Given the description of an element on the screen output the (x, y) to click on. 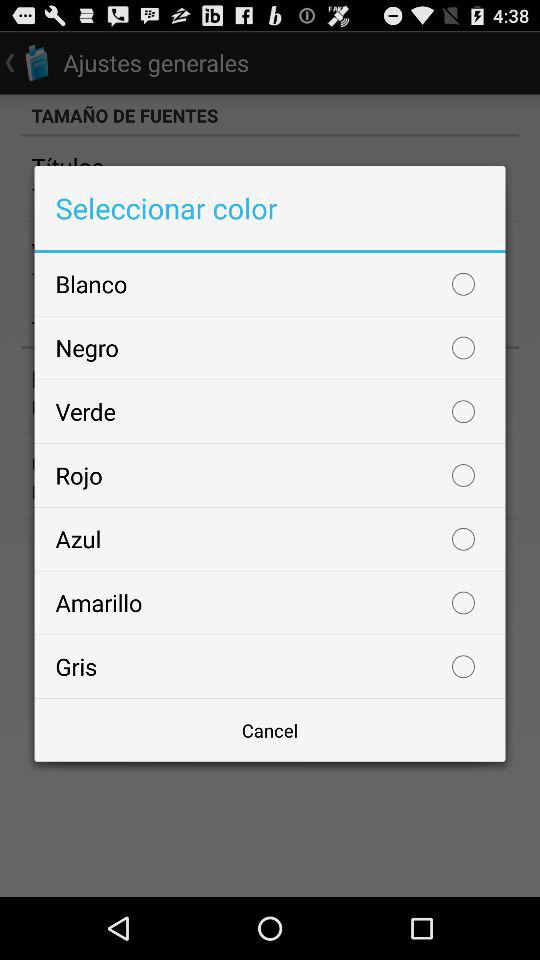
swipe until the cancel item (269, 729)
